Given the description of an element on the screen output the (x, y) to click on. 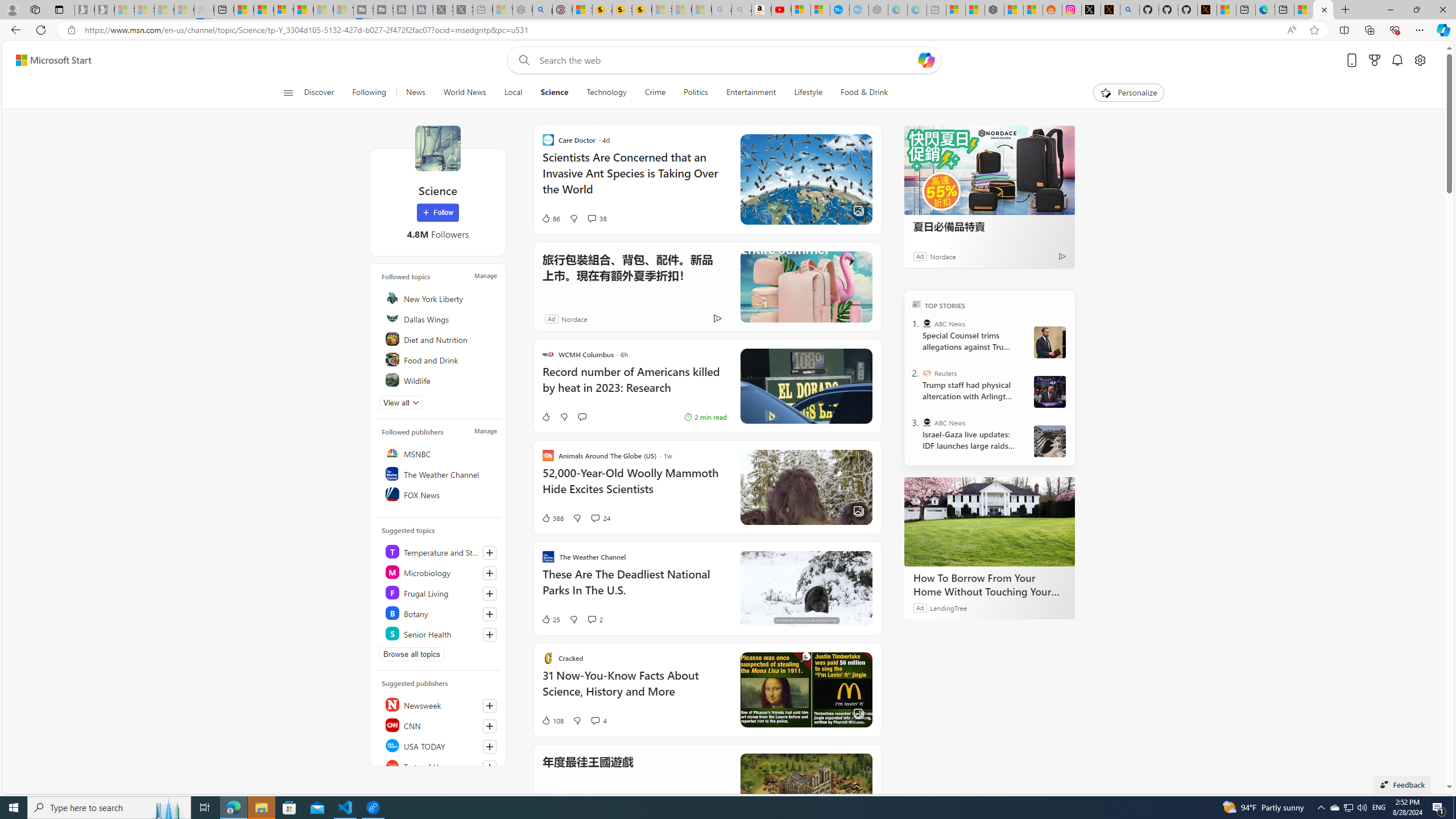
Open navigation menu (287, 92)
World News (464, 92)
Follow this source (489, 766)
Newsletter Sign Up - Sleeping (104, 9)
Taste of Home (439, 765)
